Given the description of an element on the screen output the (x, y) to click on. 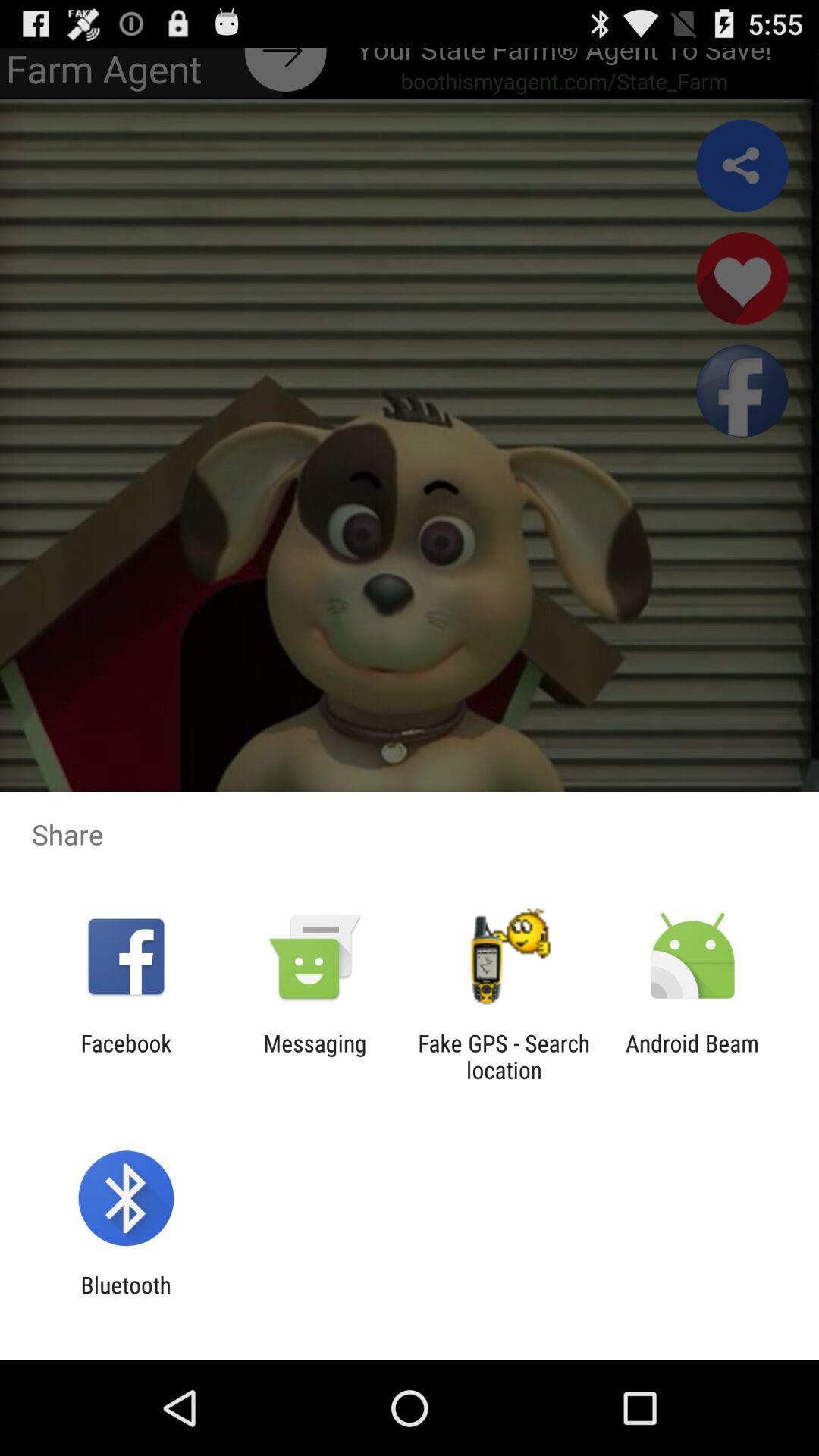
launch facebook (125, 1056)
